Given the description of an element on the screen output the (x, y) to click on. 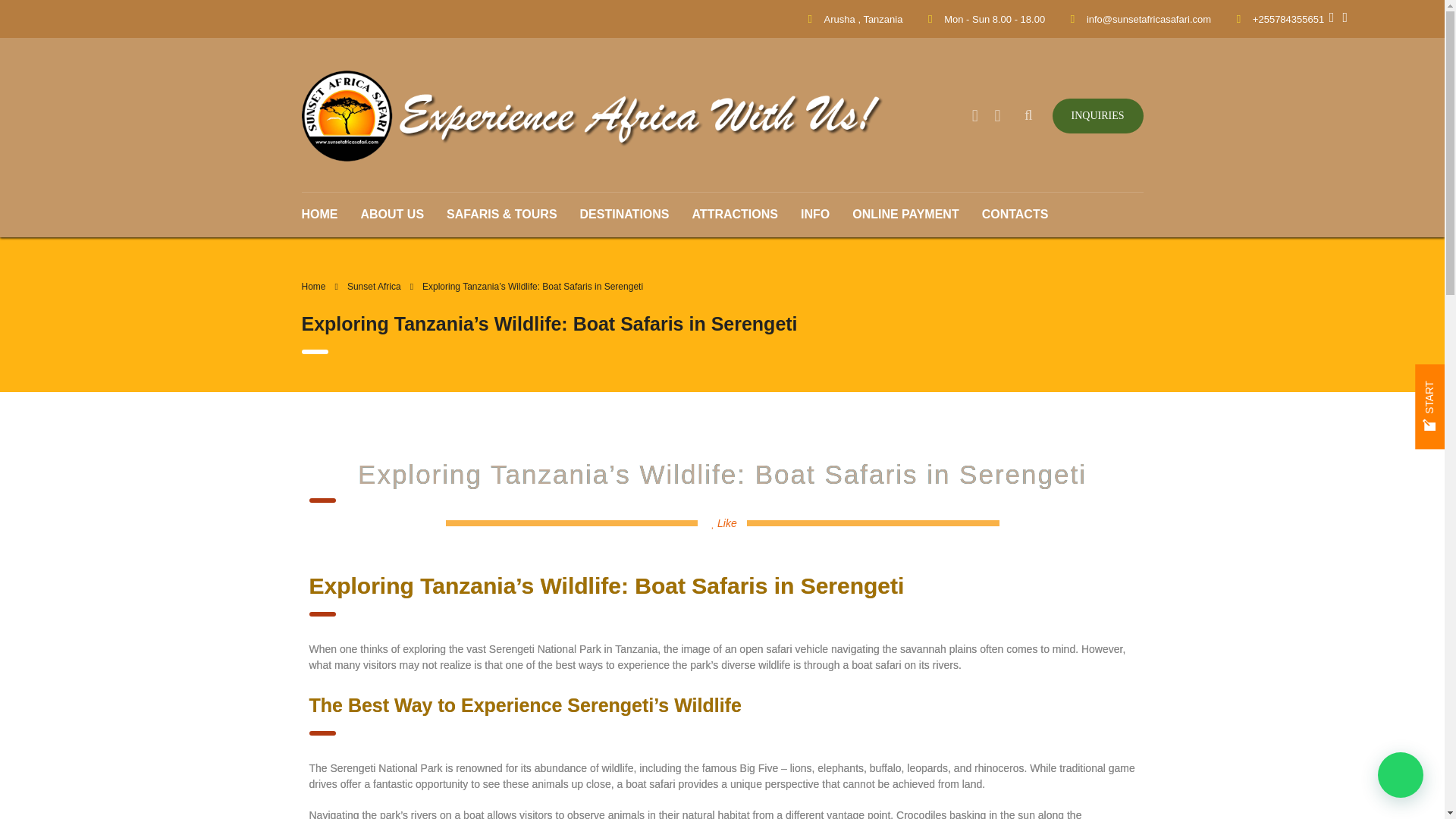
Go to Sunset Africa Safari. (313, 286)
Like (725, 522)
HOME (325, 214)
ABOUT US (392, 214)
ATTRACTIONS (735, 214)
INQUIRIES (1097, 115)
DESTINATIONS (625, 214)
Go to the Sunset Africa category archives. (374, 286)
